Given the description of an element on the screen output the (x, y) to click on. 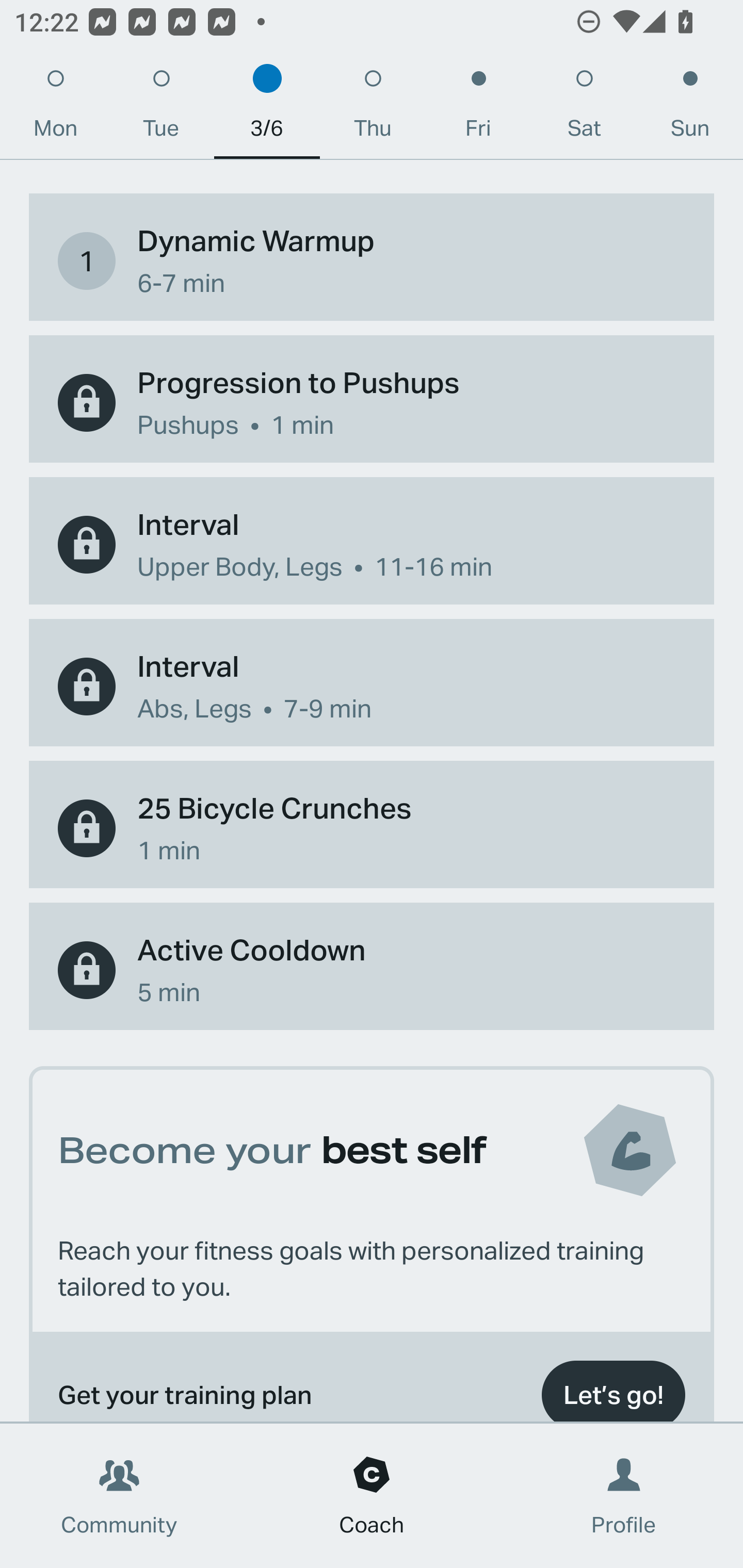
Mon (55, 108)
Tue (160, 108)
3/6 (266, 108)
Thu (372, 108)
Fri (478, 108)
Sat (584, 108)
Sun (690, 108)
1 Dynamic Warmup 6-7 min (371, 260)
Progression to Pushups Pushups  •  1 min (371, 402)
Interval Upper Body, Legs  •  11-16 min (371, 544)
Interval Abs, Legs  •  7-9 min (371, 685)
25 Bicycle Crunches 1 min (371, 828)
Active Cooldown 5 min (371, 969)
Let’s go! (613, 1386)
Community (119, 1495)
Profile (624, 1495)
